Given the description of an element on the screen output the (x, y) to click on. 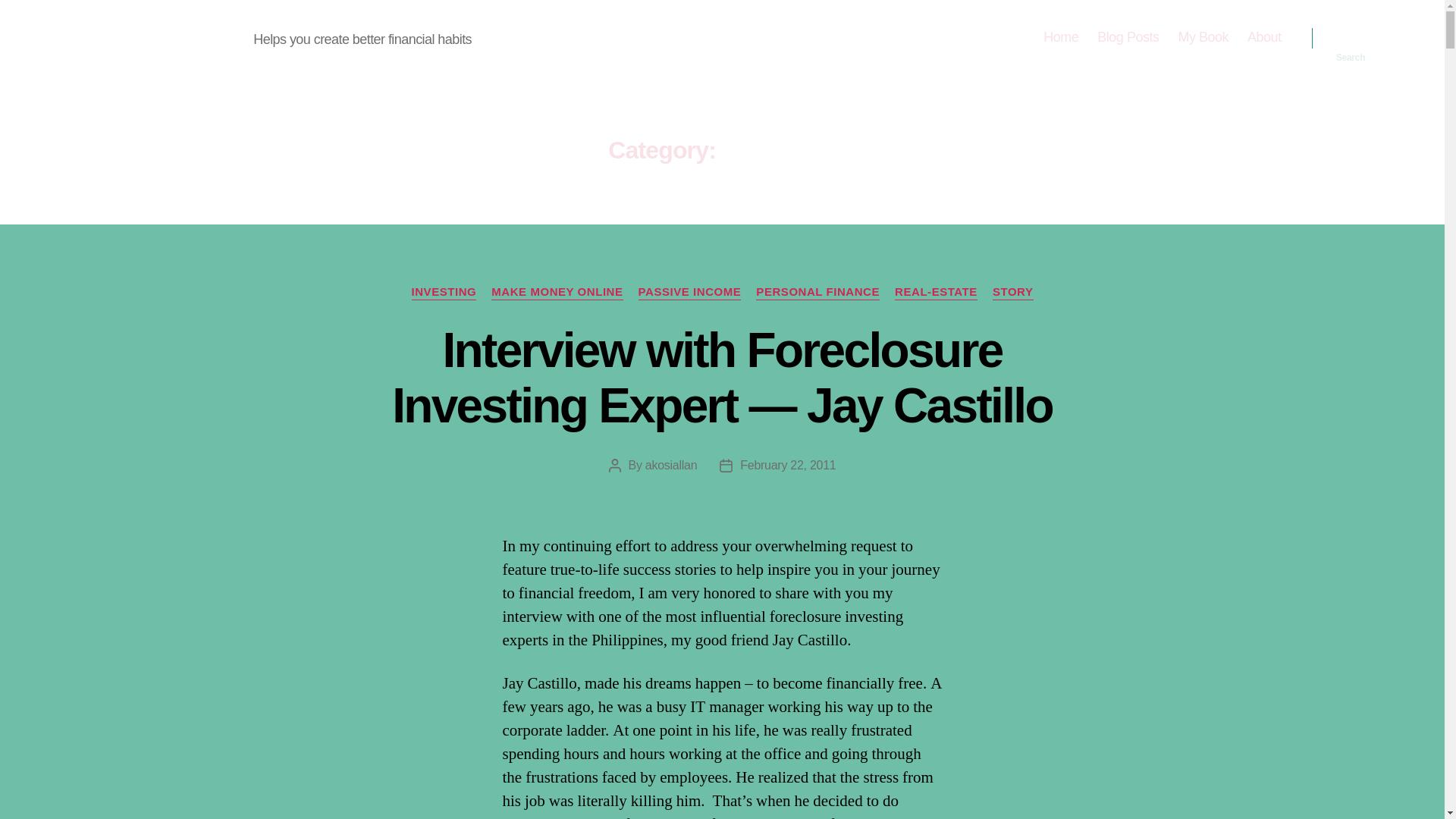
My Book (1202, 37)
Search (1350, 37)
Rich Money Habits (159, 37)
INVESTING (443, 292)
February 22, 2011 (787, 464)
Home (1060, 37)
akosiallan (671, 464)
PASSIVE INCOME (690, 292)
REAL-ESTATE (935, 292)
About (1264, 37)
